Given the description of an element on the screen output the (x, y) to click on. 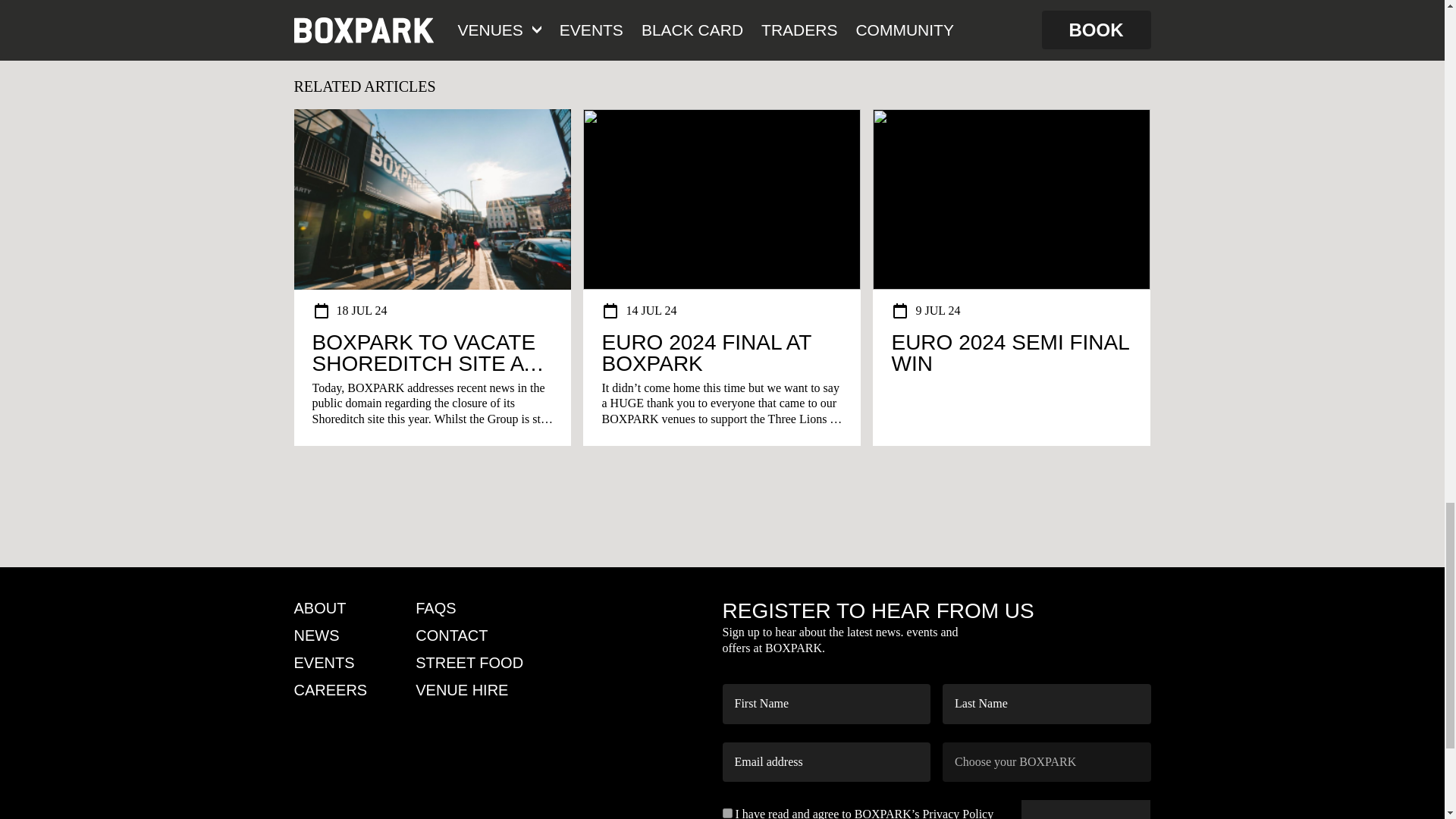
Submit (1086, 809)
1 (727, 813)
